Given the description of an element on the screen output the (x, y) to click on. 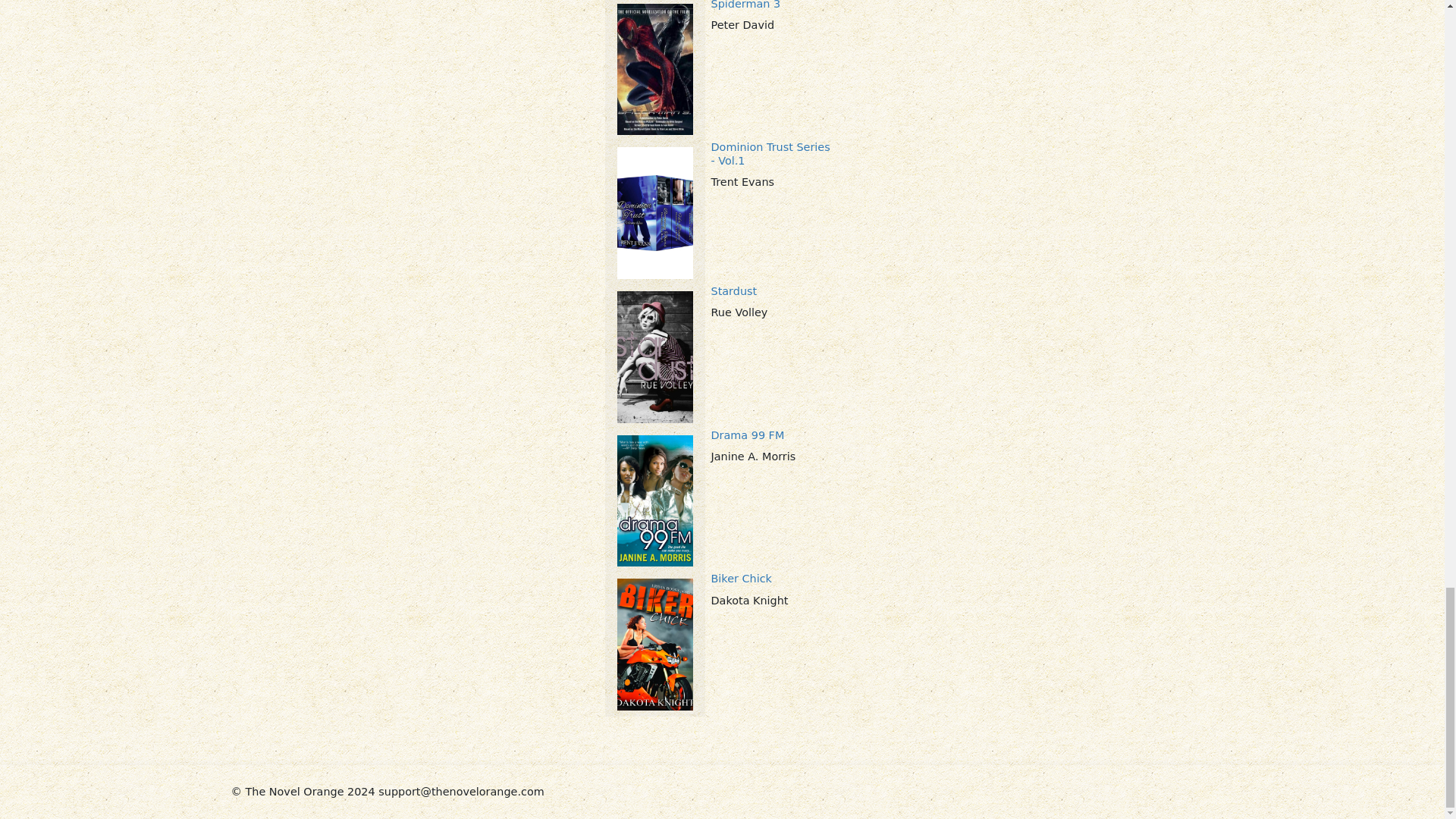
LiveInternet (1211, 788)
